Given the description of an element on the screen output the (x, y) to click on. 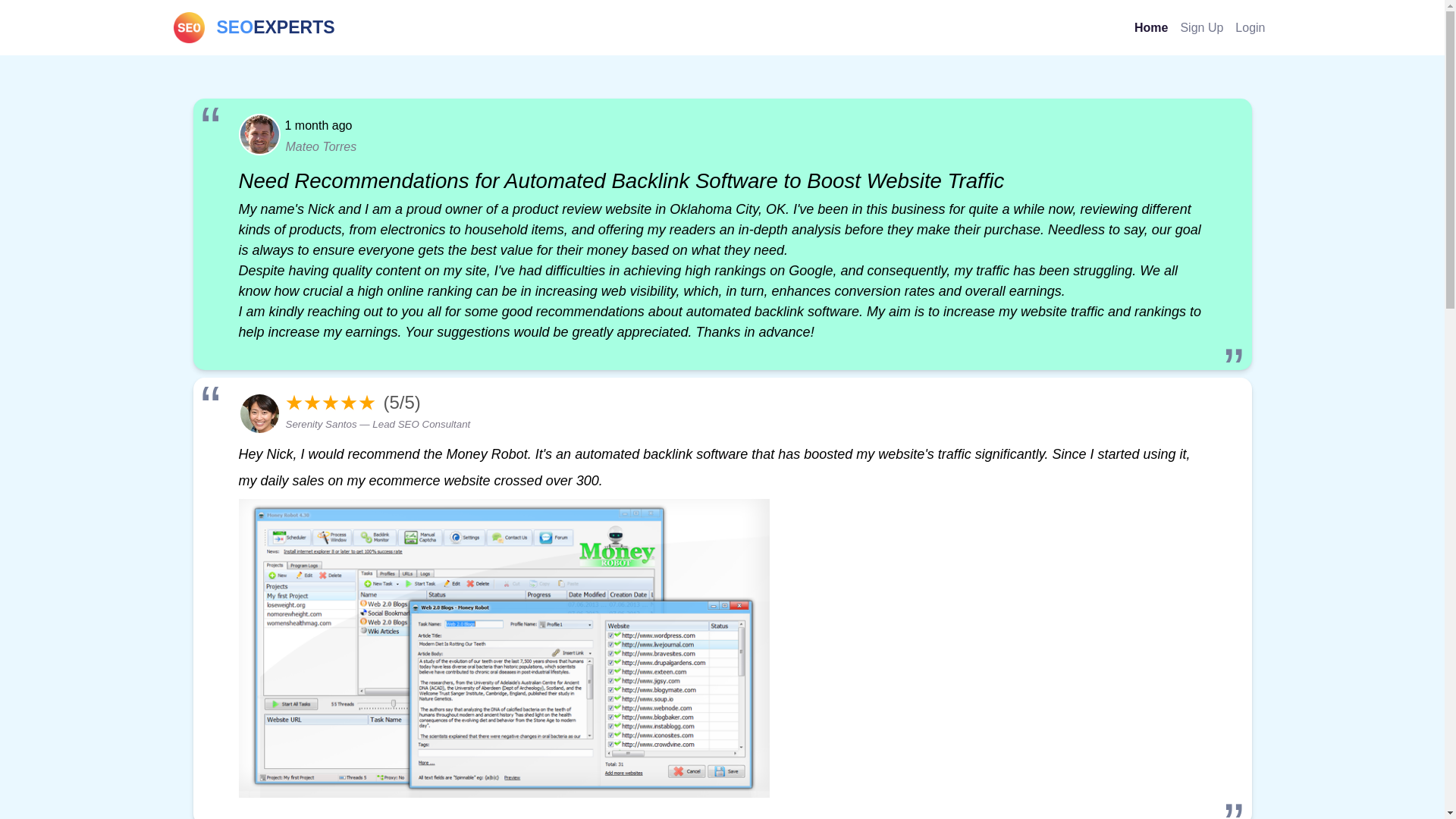
Sign Up (1200, 27)
Home (1150, 27)
Login (1249, 27)
